Given the description of an element on the screen output the (x, y) to click on. 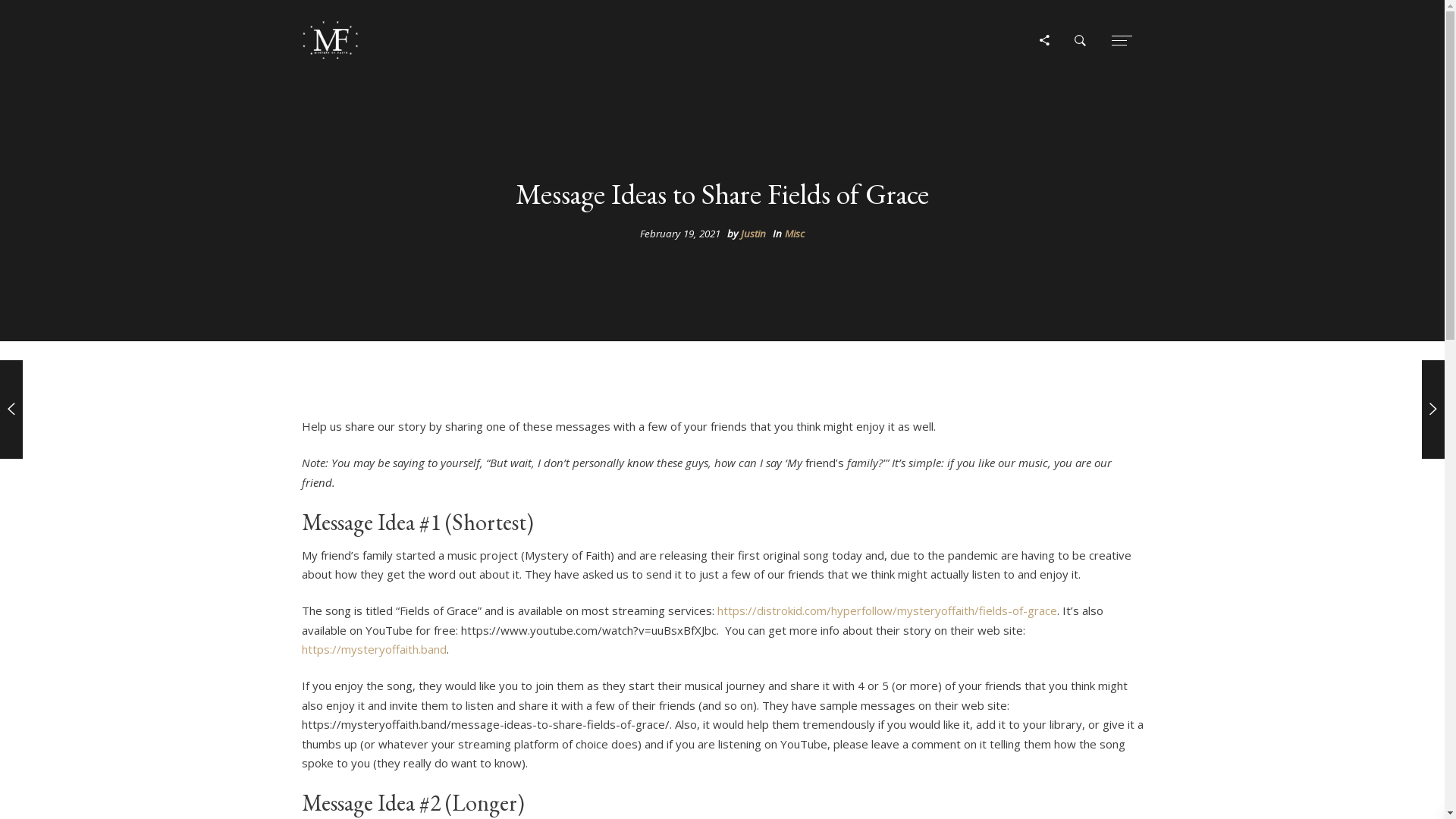
https://mysteryoffaith.band Element type: text (373, 648)
Justin Element type: text (752, 233)
Misc Element type: text (794, 233)
